Given the description of an element on the screen output the (x, y) to click on. 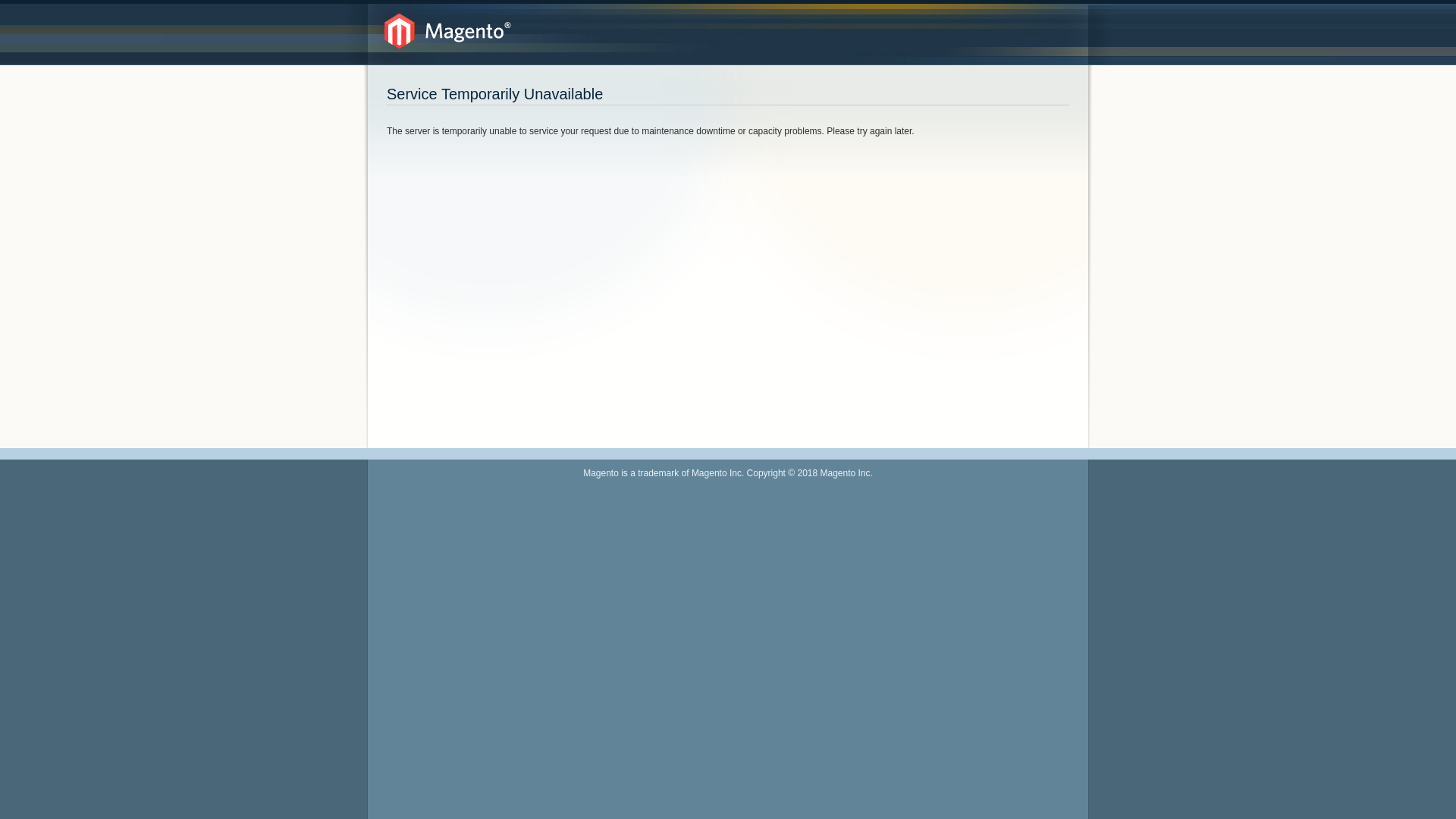
Magento Commerce (447, 31)
